Given the description of an element on the screen output the (x, y) to click on. 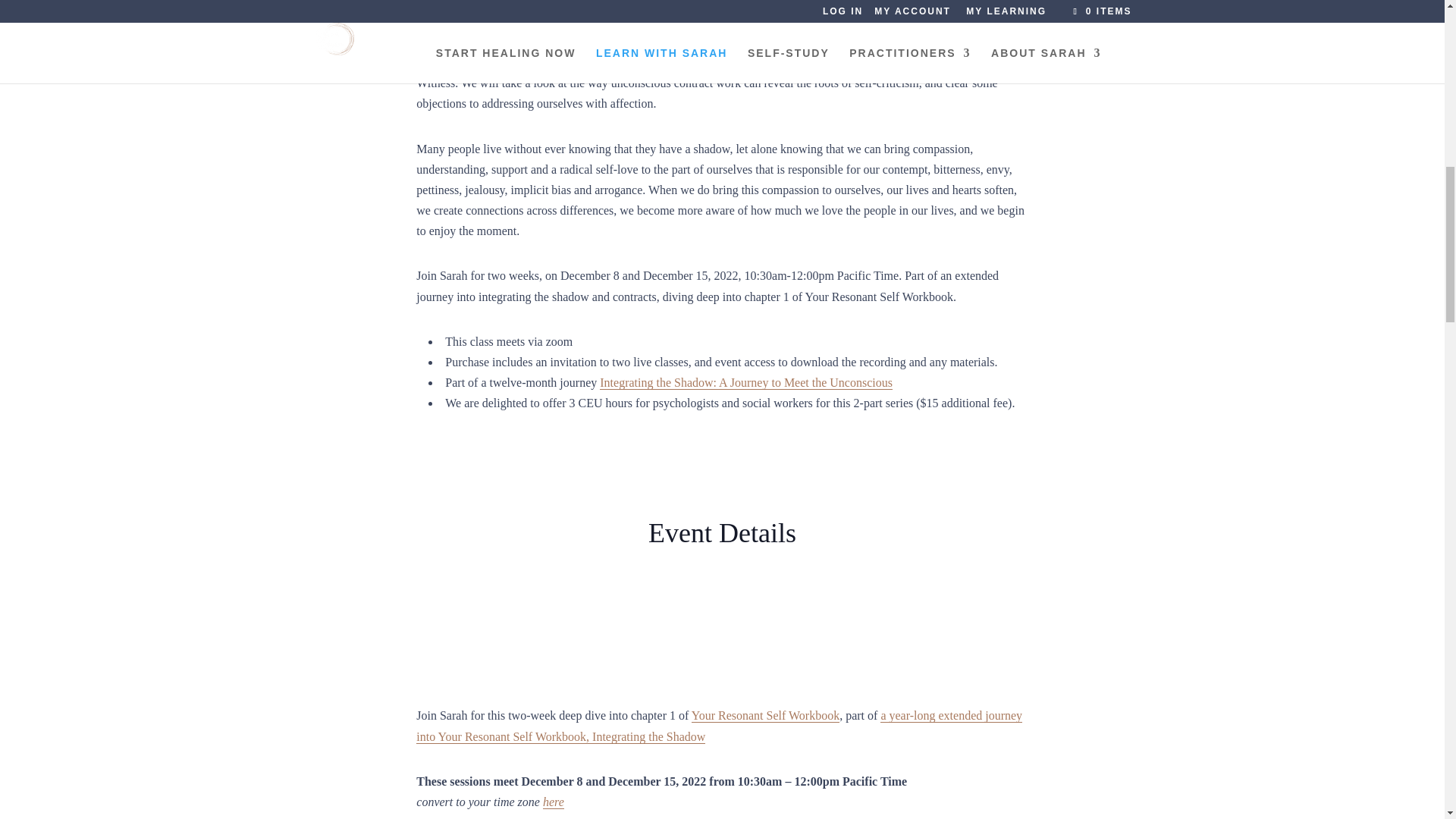
here (553, 802)
Divider Line (529, 631)
Integrating the Shadow: A Journey to Meet the Unconscious (745, 382)
Your Resonant Self Workbook (765, 715)
